Given the description of an element on the screen output the (x, y) to click on. 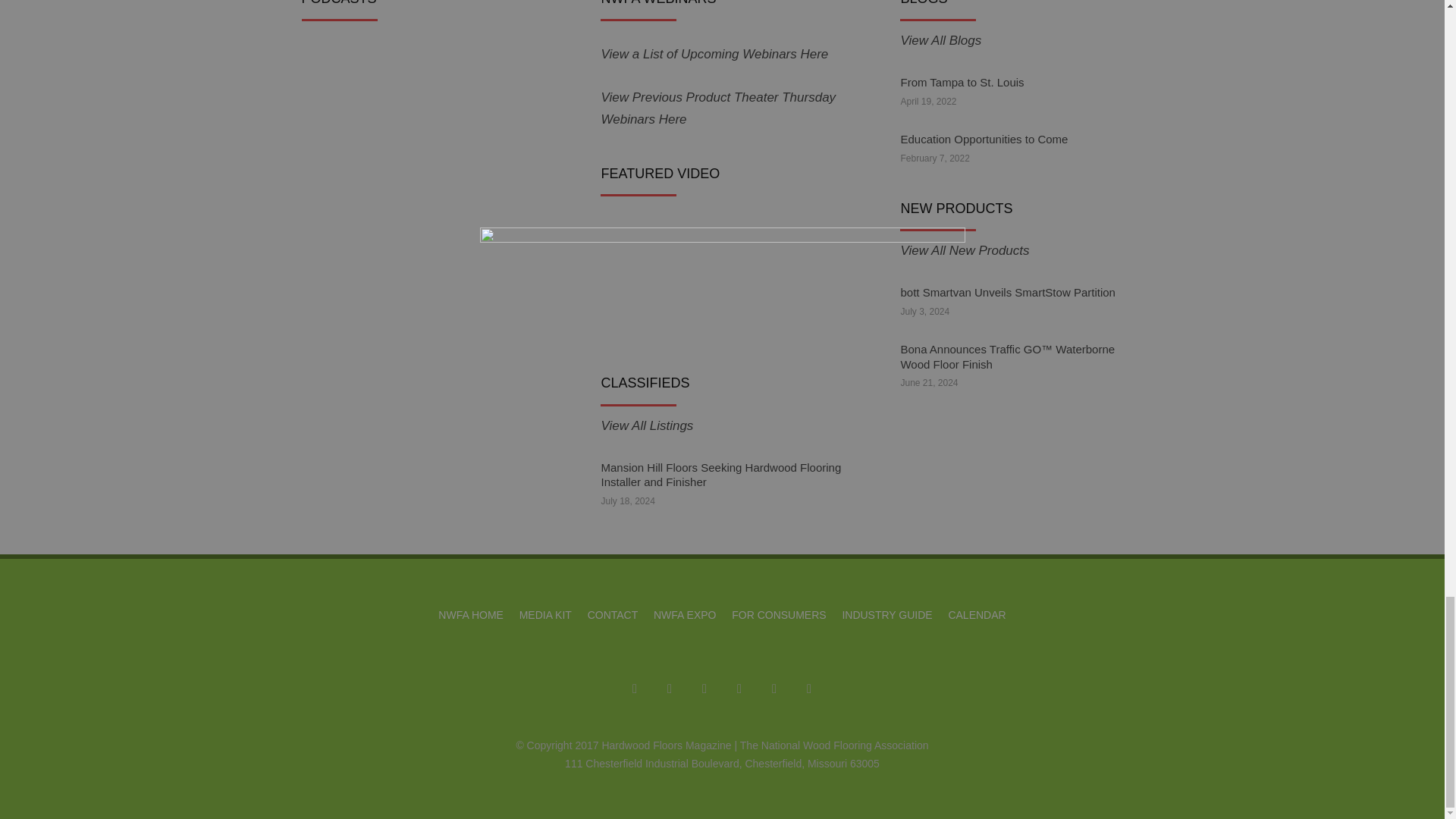
PODCASTS (376, 119)
